Given the description of an element on the screen output the (x, y) to click on. 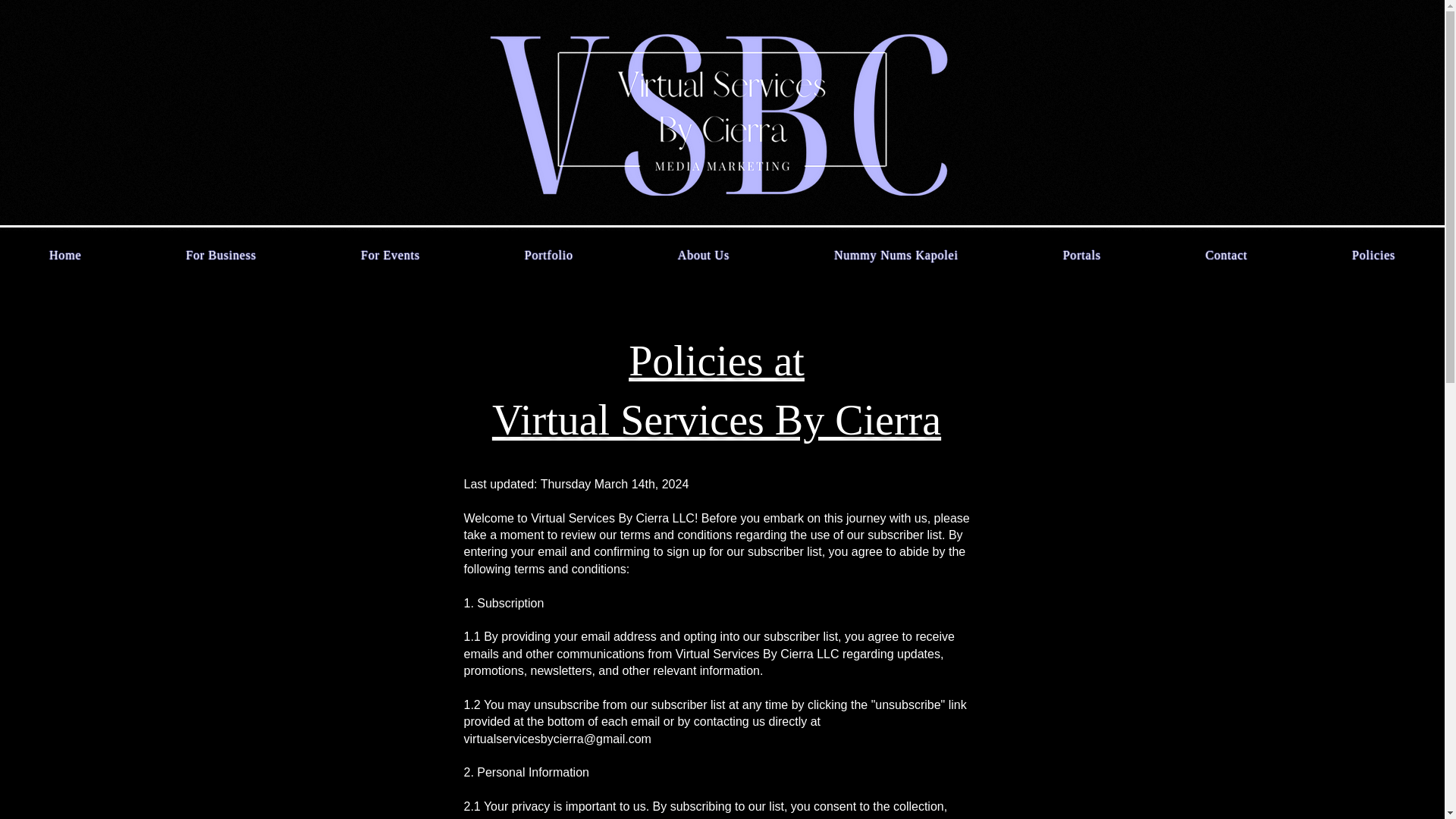
Nummy Nums Kapolei (895, 255)
Home (65, 255)
Virtual Assistant Logo Design.png (721, 111)
Contact (1226, 255)
